Given the description of an element on the screen output the (x, y) to click on. 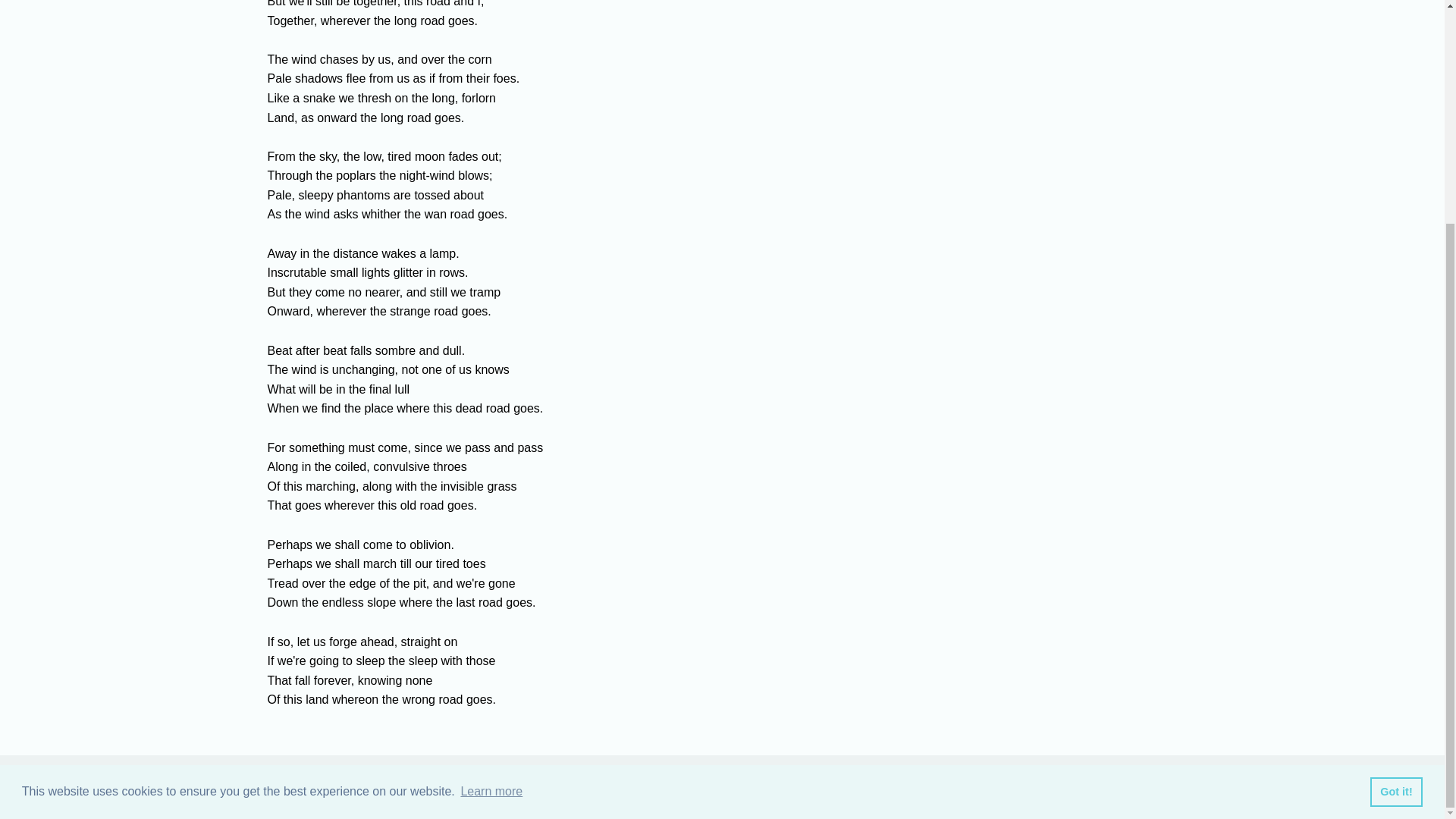
Learn more (491, 493)
About (806, 787)
Authors (642, 787)
Got it! (1396, 493)
Works (726, 787)
